Given the description of an element on the screen output the (x, y) to click on. 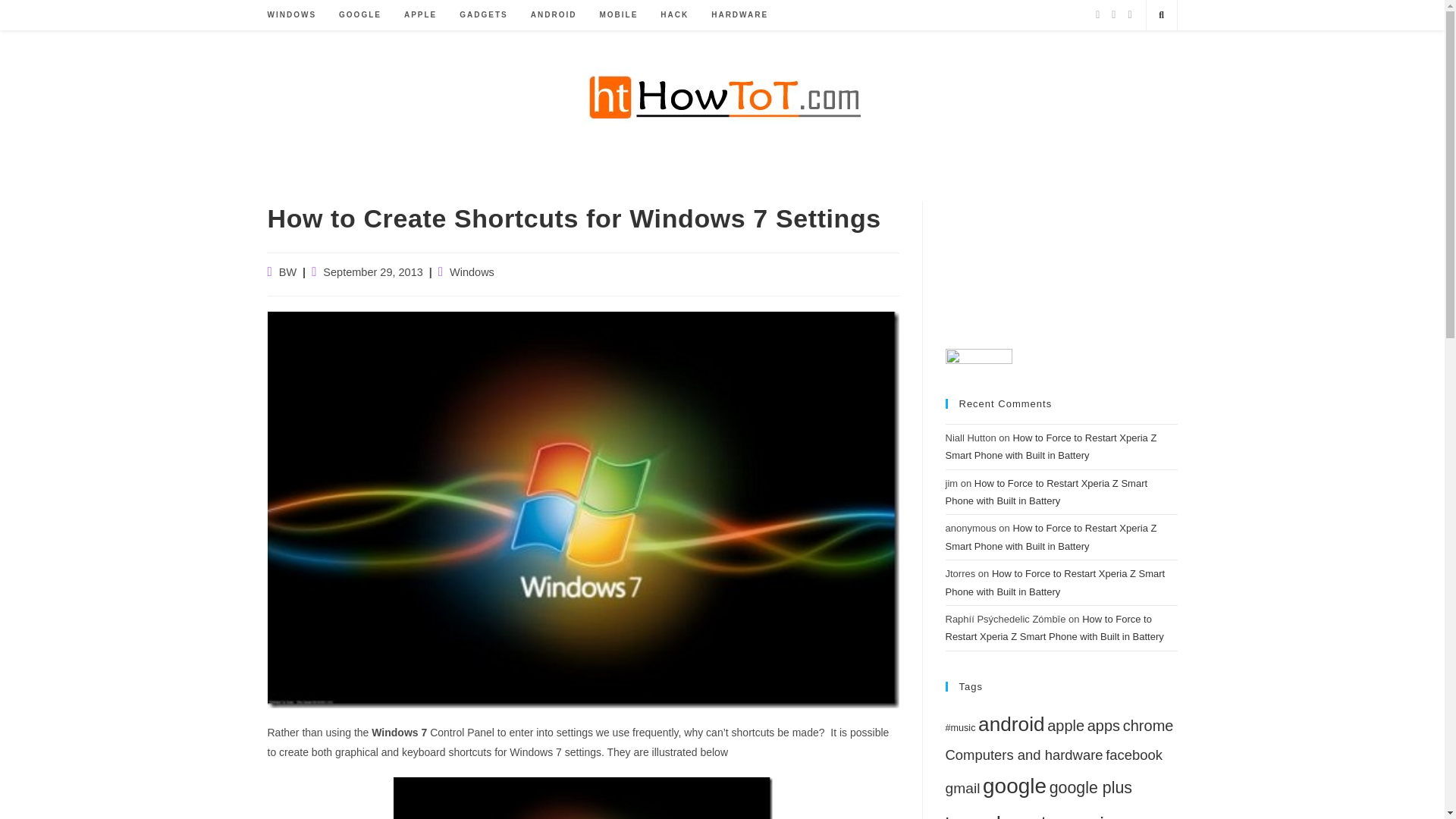
BW (288, 272)
Posts by BW (288, 272)
HARDWARE (739, 15)
GADGETS (483, 15)
WINDOWS (292, 15)
ANDROID (553, 15)
Windows (472, 272)
APPLE (420, 15)
GOOGLE (360, 15)
